Given the description of an element on the screen output the (x, y) to click on. 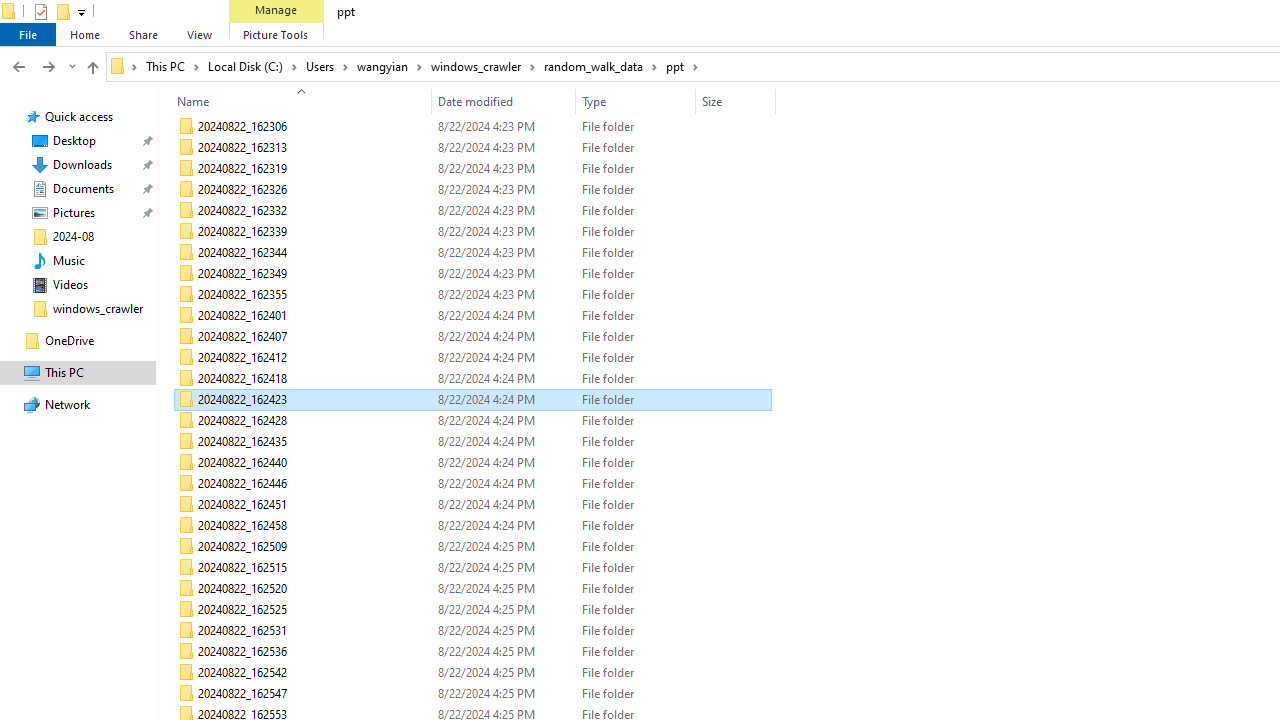
20240822_162509 (472, 546)
Date modified (504, 693)
20240822_162407 (472, 336)
Local Disk (C:) (252, 65)
20240822_162326 (472, 189)
Recent locations (71, 66)
Name (296, 101)
20240822_162423 (472, 399)
Class: UIImage (186, 693)
20240822_162349 (472, 273)
Size (735, 693)
20240822_162536 (472, 651)
Up to "random_walk_data" (Alt + Up Arrow) (92, 67)
